Given the description of an element on the screen output the (x, y) to click on. 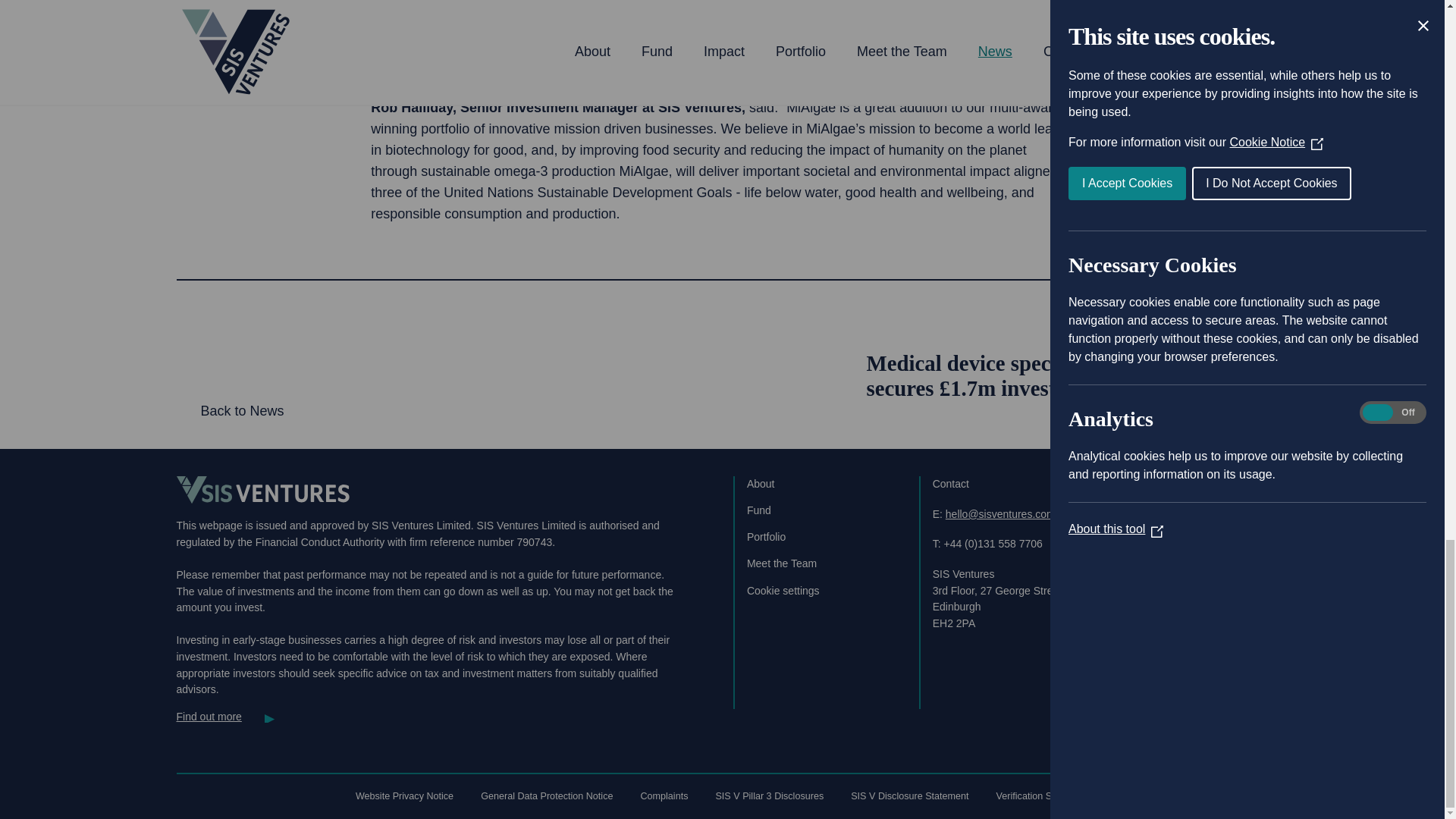
About (760, 483)
Twitter (1133, 556)
SIS V Pillar 3 Disclosures (769, 796)
Meet the Team (781, 563)
Verification Statement (1042, 796)
Cookie settings (782, 590)
SIS V Disclosure Statement (909, 796)
Find out more (225, 716)
LinkedIn (1175, 556)
Complaints (663, 796)
